Given the description of an element on the screen output the (x, y) to click on. 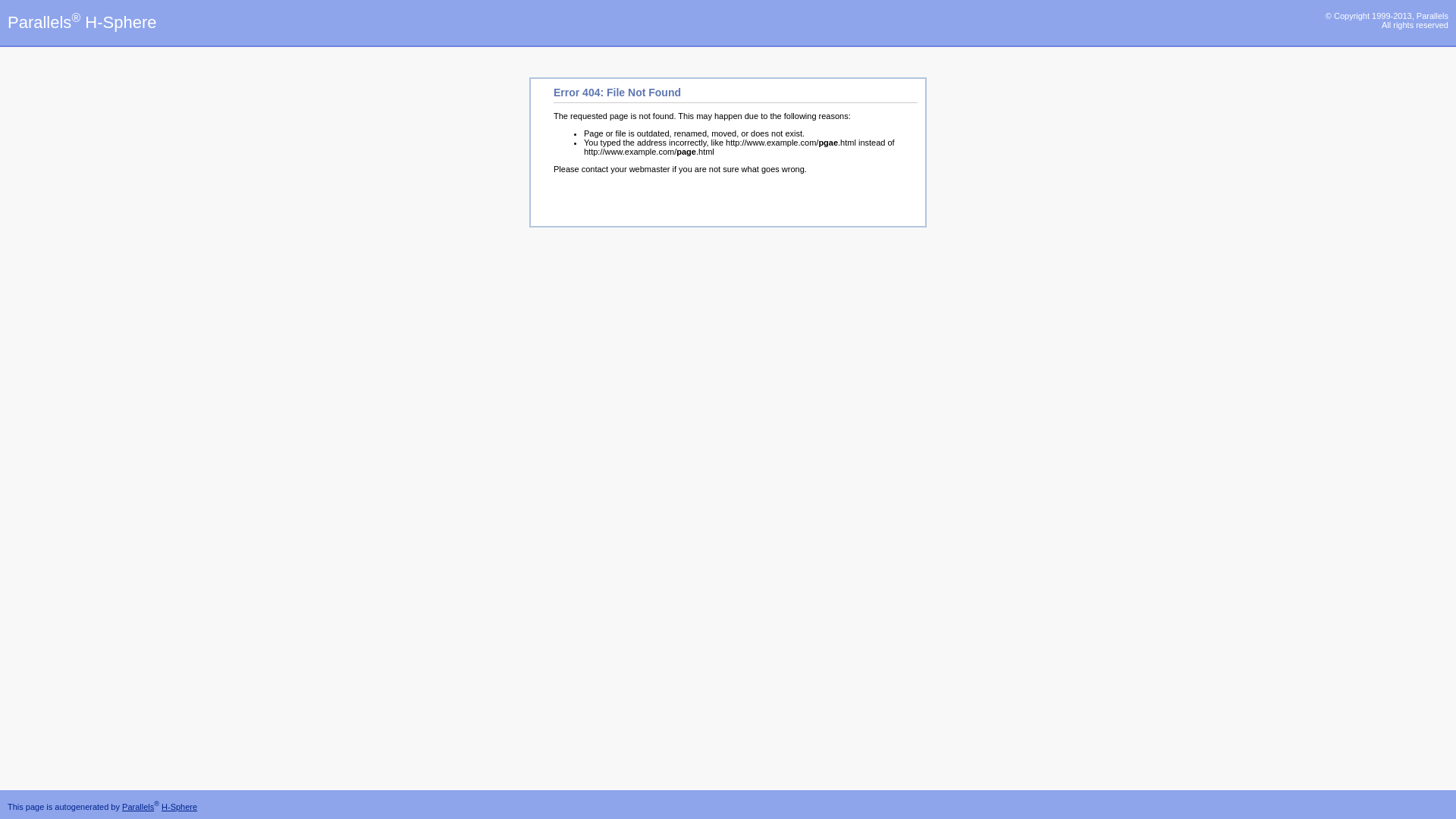
Parallels Element type: text (137, 806)
H-Sphere Element type: text (179, 806)
